Given the description of an element on the screen output the (x, y) to click on. 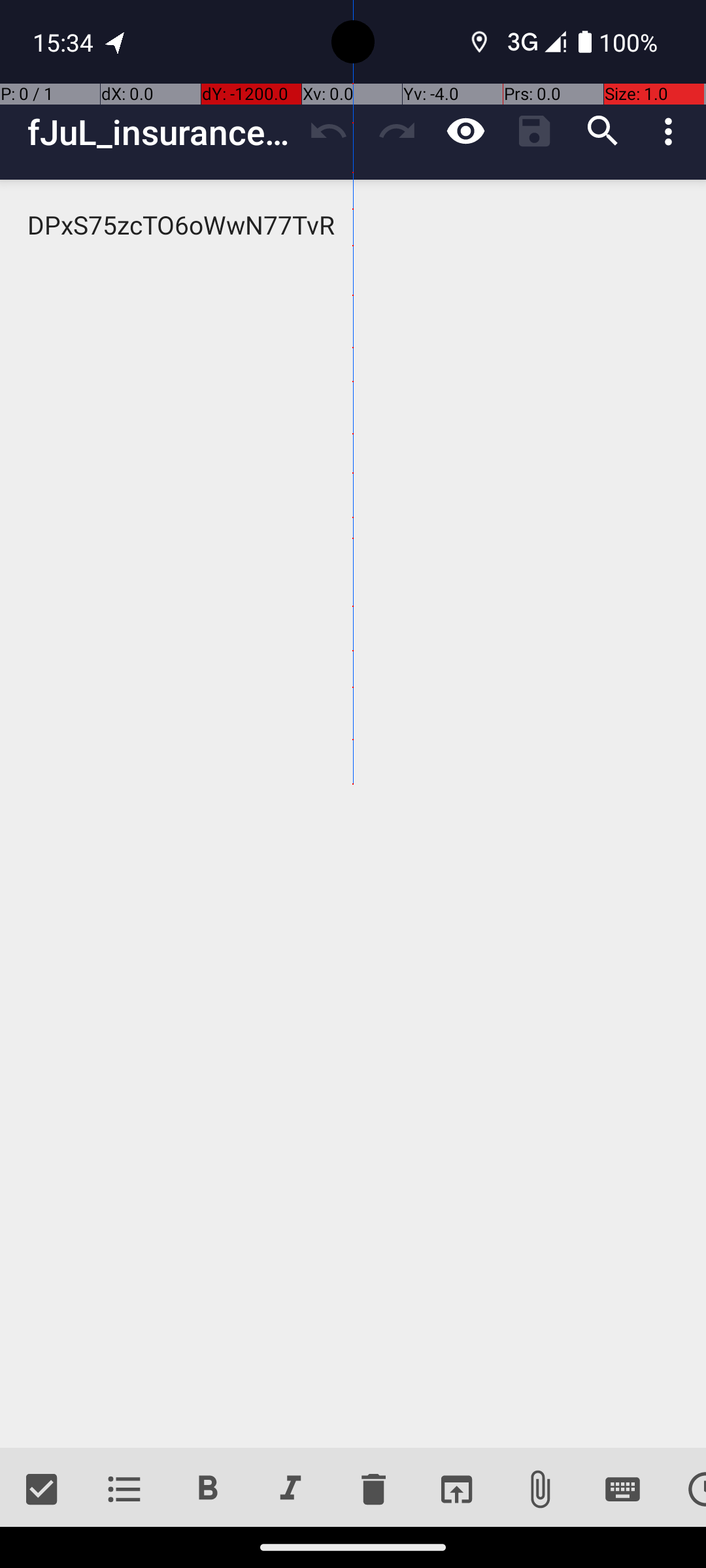
fJuL_insurance_plan_comparison Element type: android.widget.TextView (160, 131)
DPxS75zcTO6oWwN77TvR
 Element type: android.widget.EditText (353, 813)
